Given the description of an element on the screen output the (x, y) to click on. 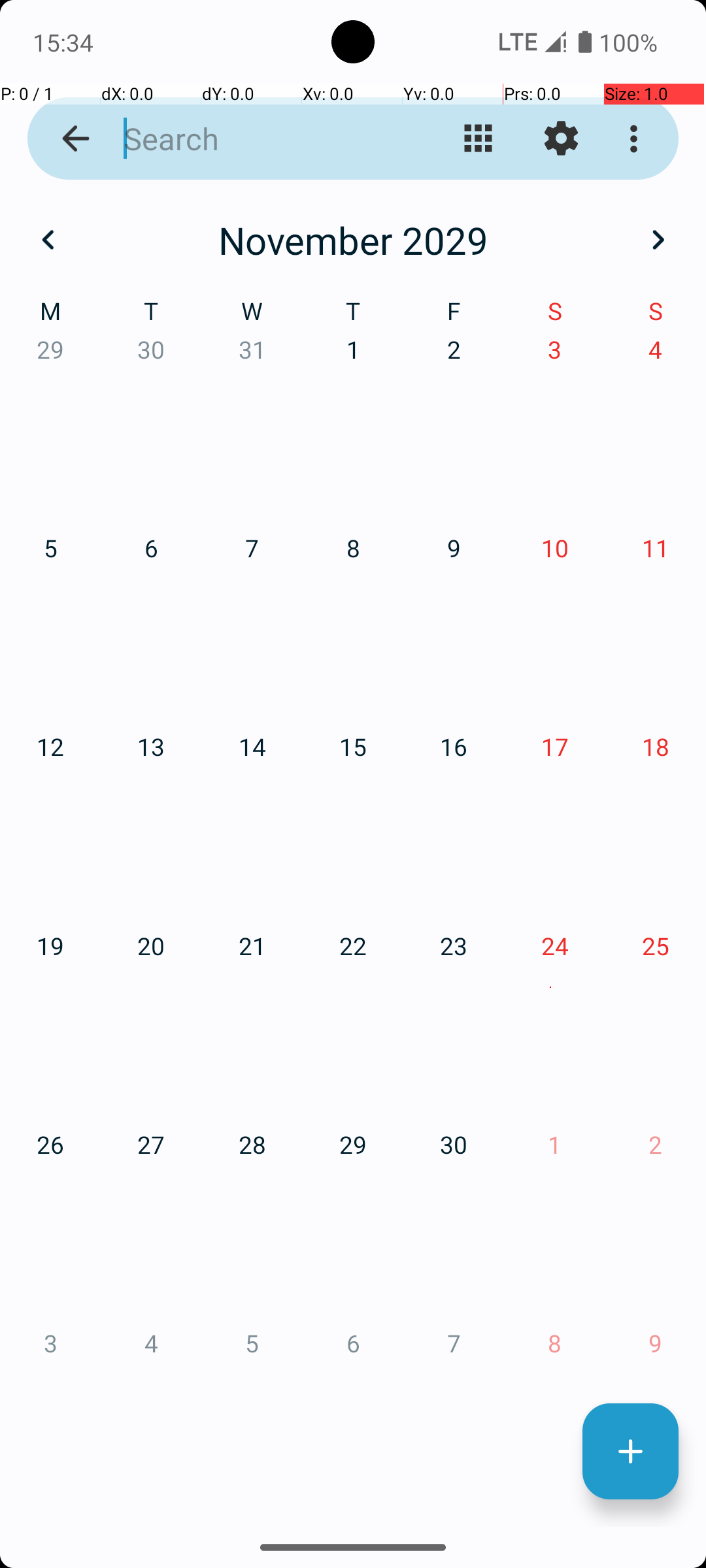
November 2029 Element type: android.widget.TextView (352, 239)
